Given the description of an element on the screen output the (x, y) to click on. 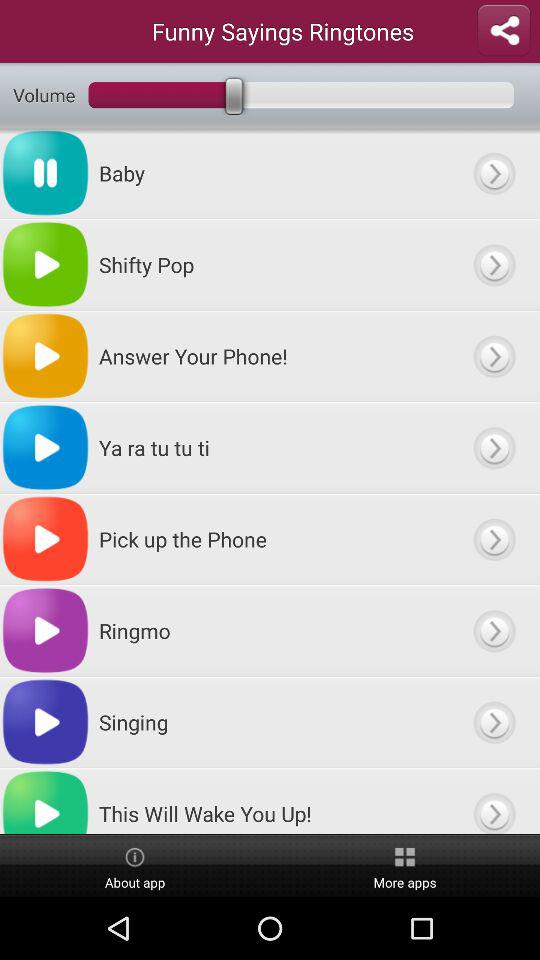
share on social media (503, 31)
